Given the description of an element on the screen output the (x, y) to click on. 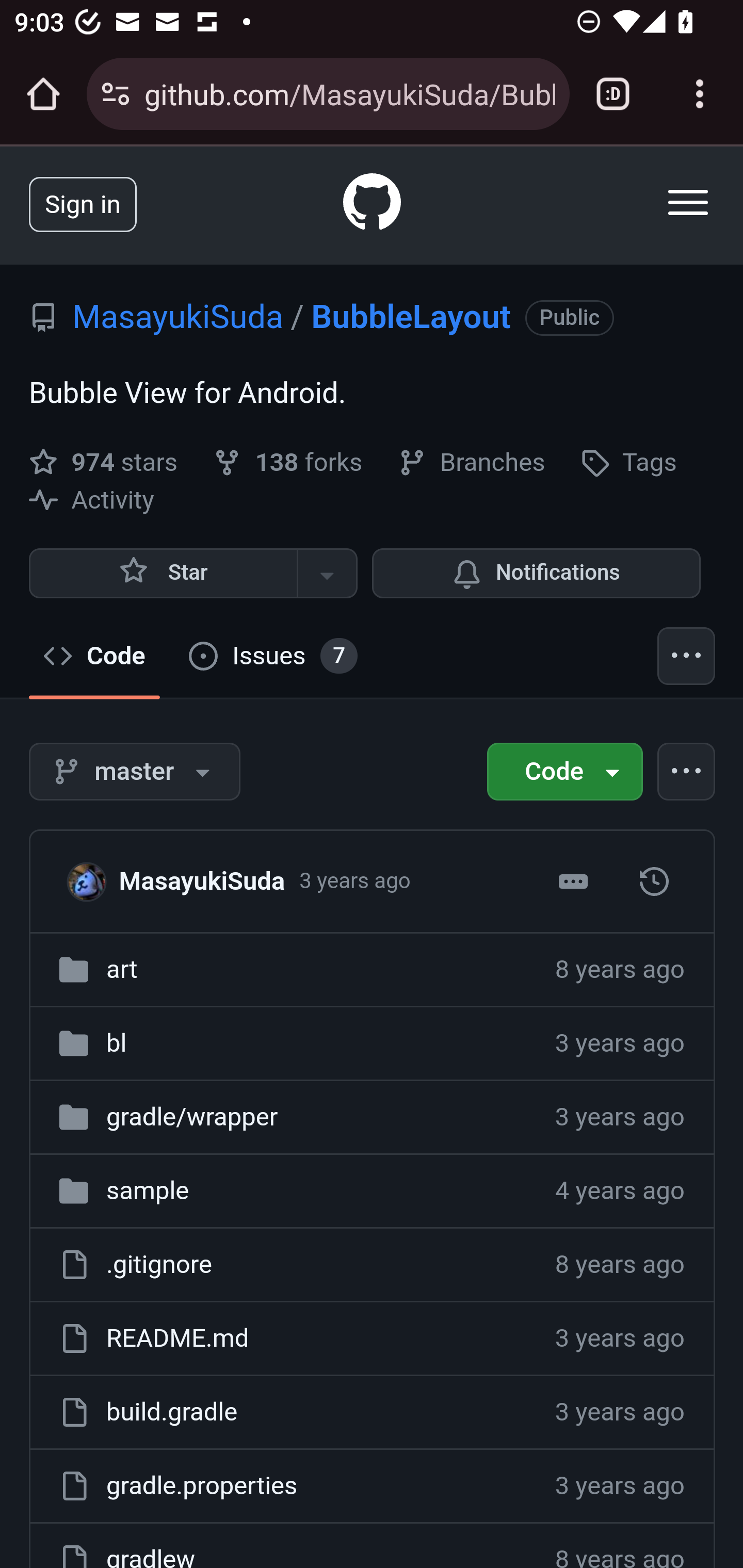
Open the home page (43, 93)
Connection is secure (115, 93)
Switch or close tabs (612, 93)
Customize and control Google Chrome (699, 93)
github.com/MasayukiSuda/BubbleLayout (349, 92)
Homepage (372, 205)
Toggle navigation (688, 202)
Sign in (82, 203)
MasayukiSuda (178, 317)
BubbleLayout (410, 317)
Branches (471, 461)
Tags (627, 461)
974 stars  974  stars  (106, 461)
138 forks  138  forks  (290, 461)
Activity (91, 499)
You must be signed in to star a repository  Star (162, 572)
Additional navigation options (686, 655)
Code (94, 655)
Issues 7 Issues 7 (273, 655)
master branch (135, 771)
Code (564, 771)
Open more actions menu (686, 771)
Open commit details (573, 881)
master (654, 881)
MasayukiSuda (91, 880)
commits by MasayukiSuda MasayukiSuda (201, 879)
art, (Directory) art (121, 969)
bl, (Directory) bl (115, 1043)
gradle/wrapper, (Directory) gradle/ wrapper (190, 1116)
sample, (Directory) sample (146, 1189)
.gitignore, (File) .gitignore (158, 1264)
README.md, (File) README.md (176, 1337)
build.gradle, (File) build.gradle (171, 1411)
gradle.properties, (File) gradle.properties (200, 1485)
gradlew, (File) gradlew (150, 1555)
